Given the description of an element on the screen output the (x, y) to click on. 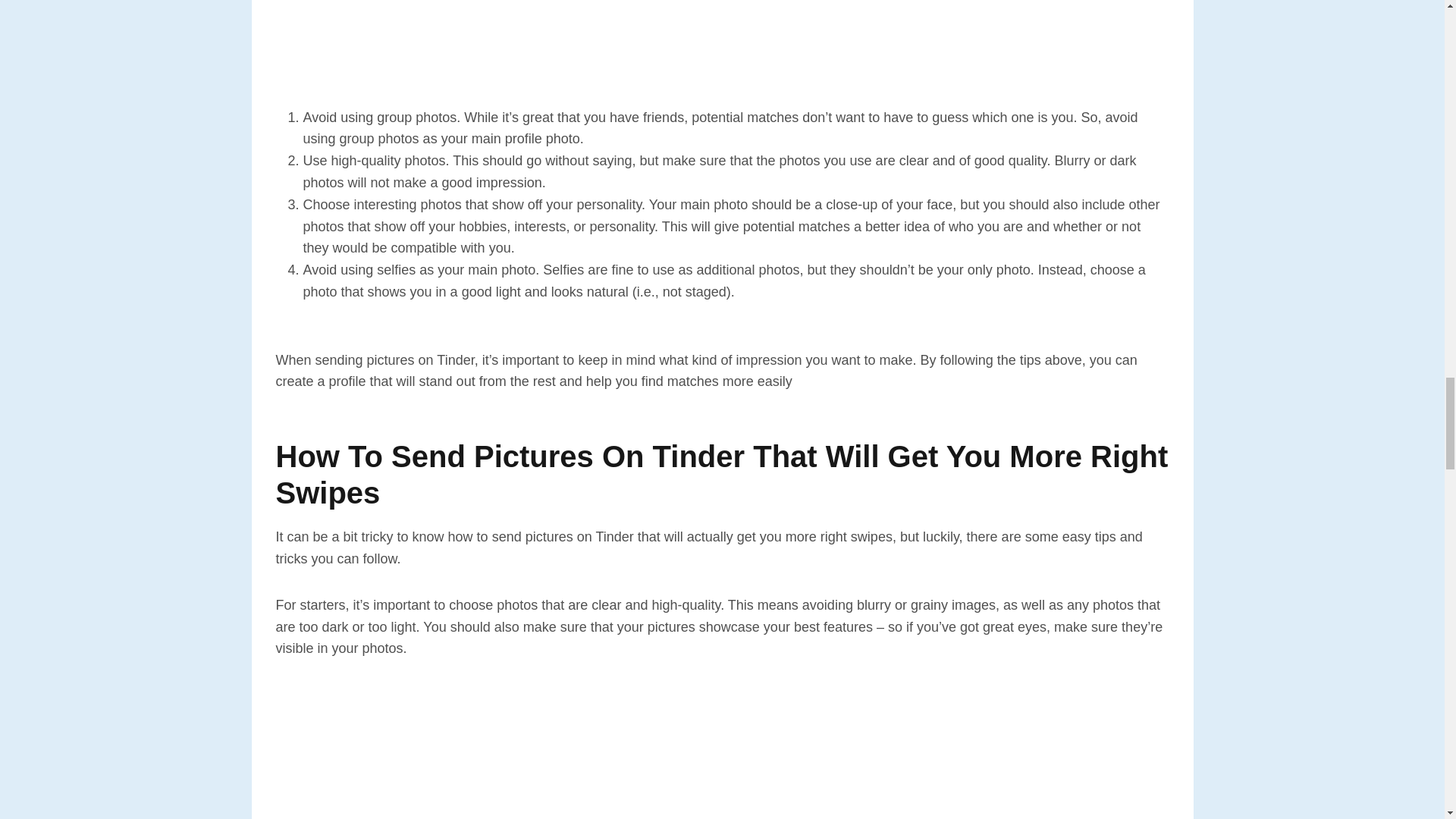
Advertisement (722, 53)
